Given the description of an element on the screen output the (x, y) to click on. 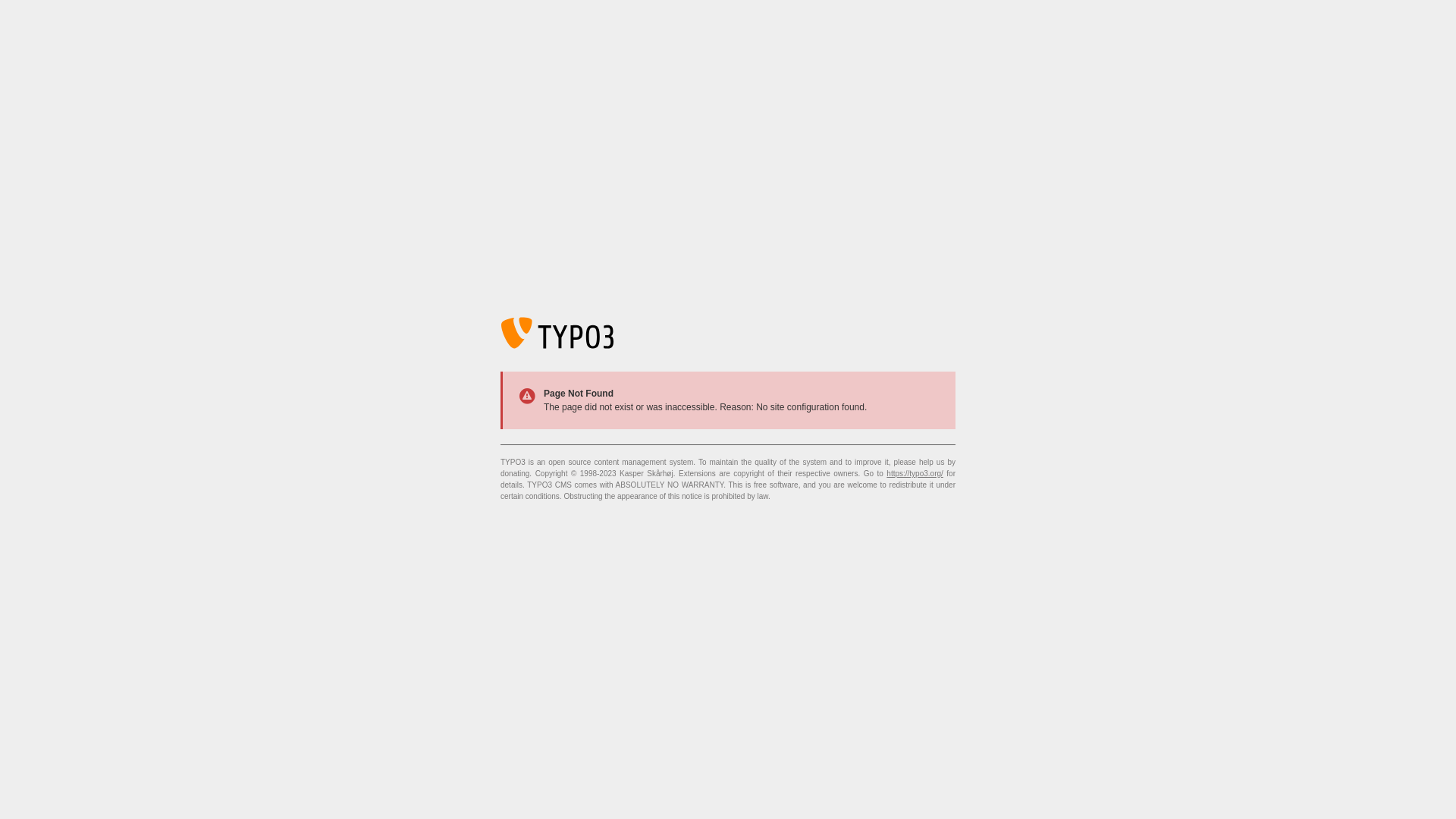
https://typo3.org/ Element type: text (914, 473)
